Given the description of an element on the screen output the (x, y) to click on. 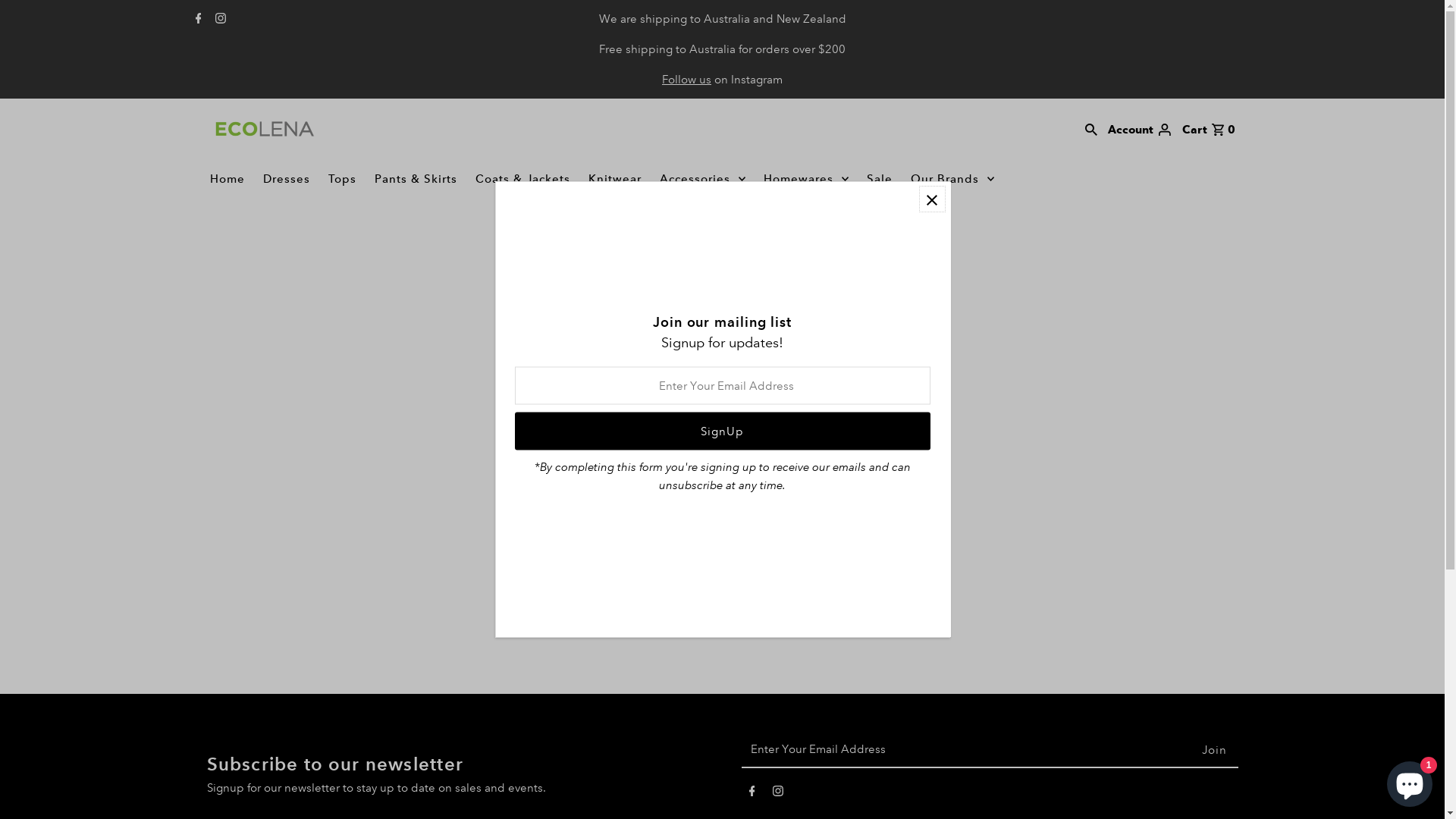
Coats & Jackets Element type: text (522, 178)
Tops Element type: text (342, 178)
Join Element type: text (1214, 749)
Accessories Element type: text (702, 178)
SignUp Element type: text (721, 431)
Our Brands Element type: text (952, 178)
Home Element type: text (670, 306)
Dresses Element type: text (286, 178)
Home Element type: text (227, 178)
Pants & Skirts Element type: text (415, 178)
Shopify online store chat Element type: hover (1409, 780)
Follow us Element type: text (686, 79)
Knitwear Element type: text (614, 178)
Sale Element type: text (879, 178)
Homewares Element type: text (806, 178)
